Given the description of an element on the screen output the (x, y) to click on. 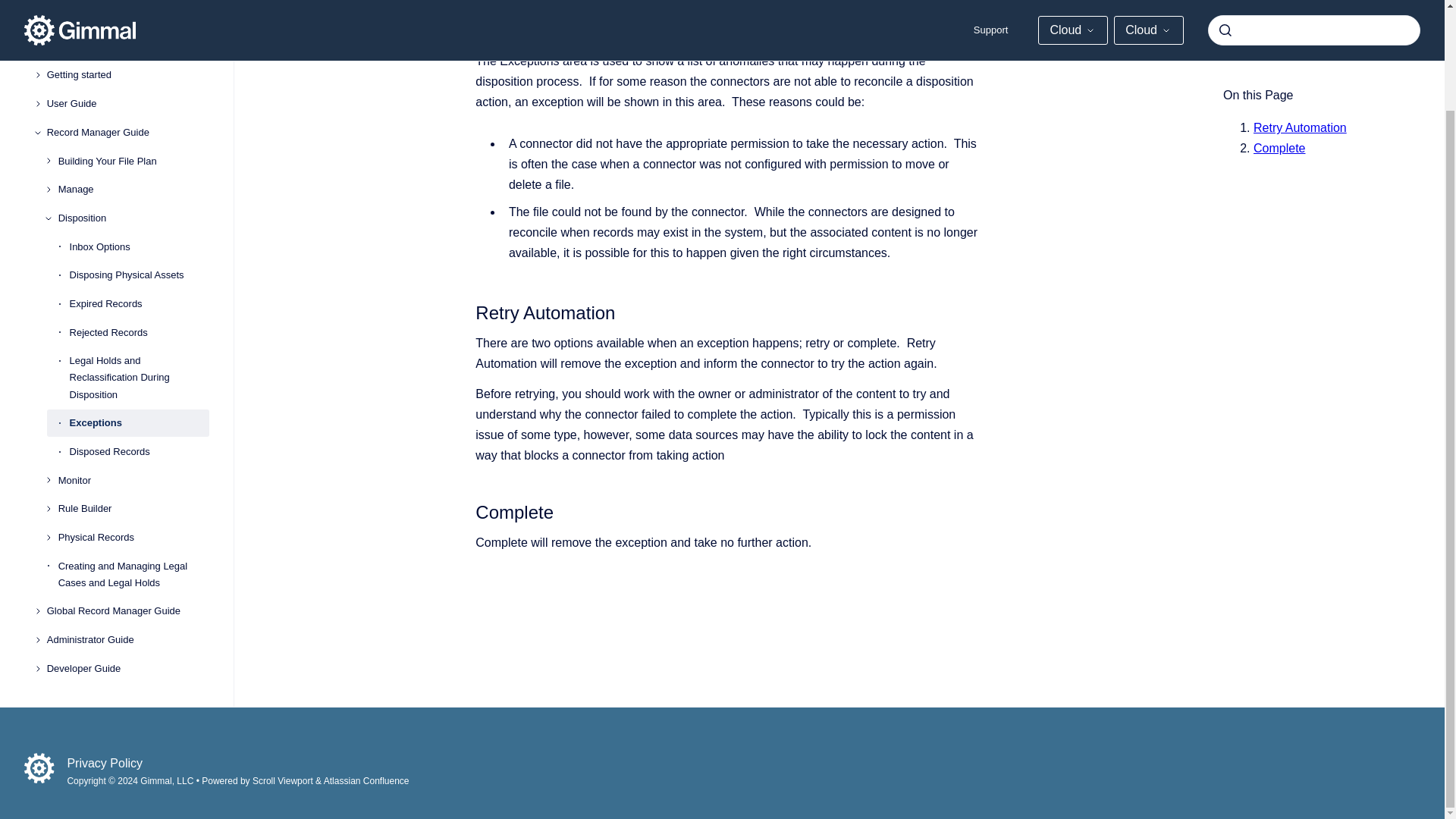
Disposition (133, 153)
Monitor (133, 415)
Legal Holds and Reclassification During Disposition (139, 313)
Record Manager Guide (127, 67)
Administrator Guide (127, 574)
User Guide (127, 39)
Building Your File Plan (133, 96)
Exceptions (139, 358)
Rule Builder (133, 443)
Global Record Manager Guide (127, 547)
Rejected Records (139, 267)
Manage (133, 124)
Inbox Options (139, 182)
Disposed Records (139, 387)
Physical Records (133, 472)
